Given the description of an element on the screen output the (x, y) to click on. 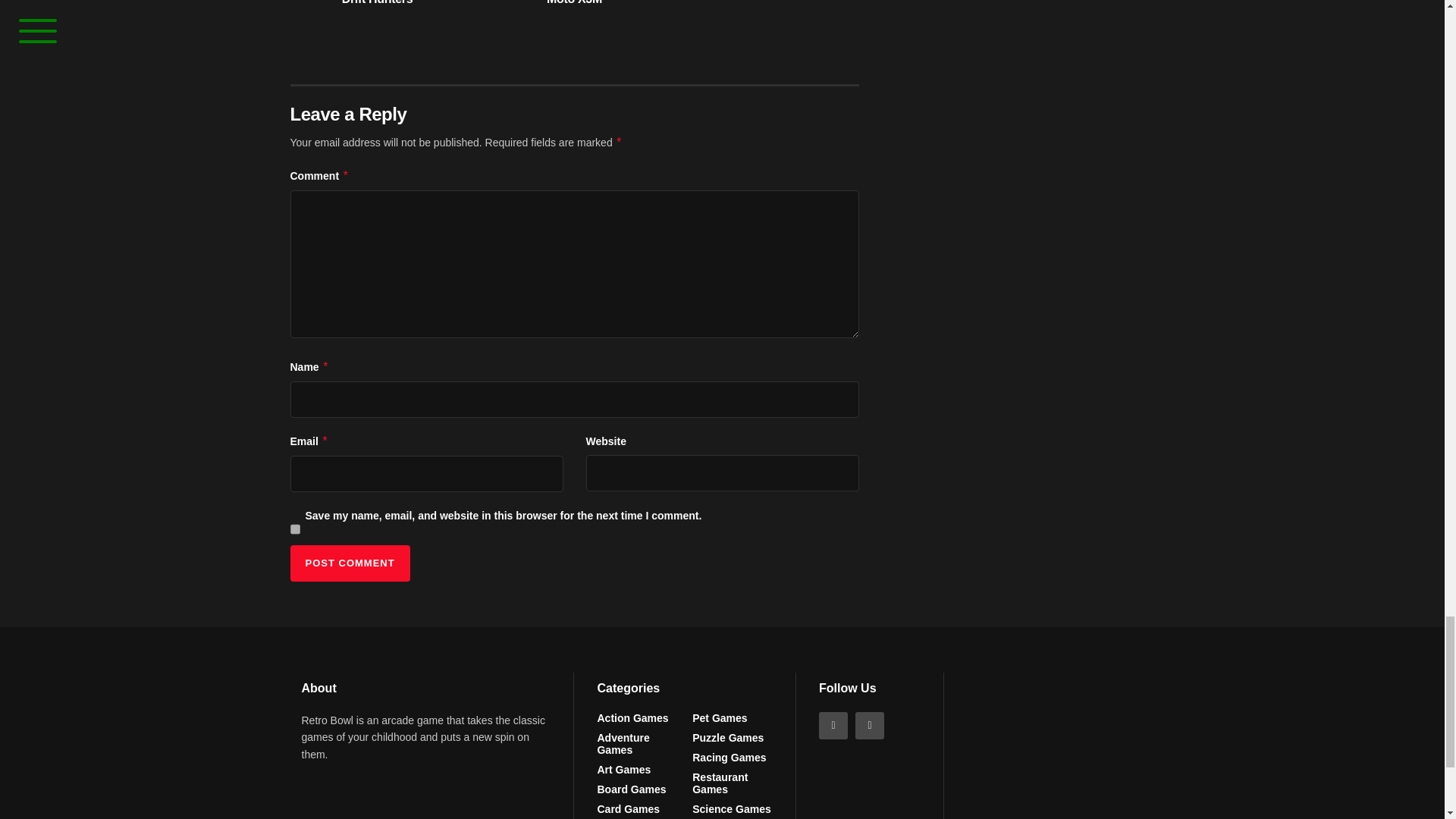
Post Comment (349, 563)
yes (294, 529)
